Given the description of an element on the screen output the (x, y) to click on. 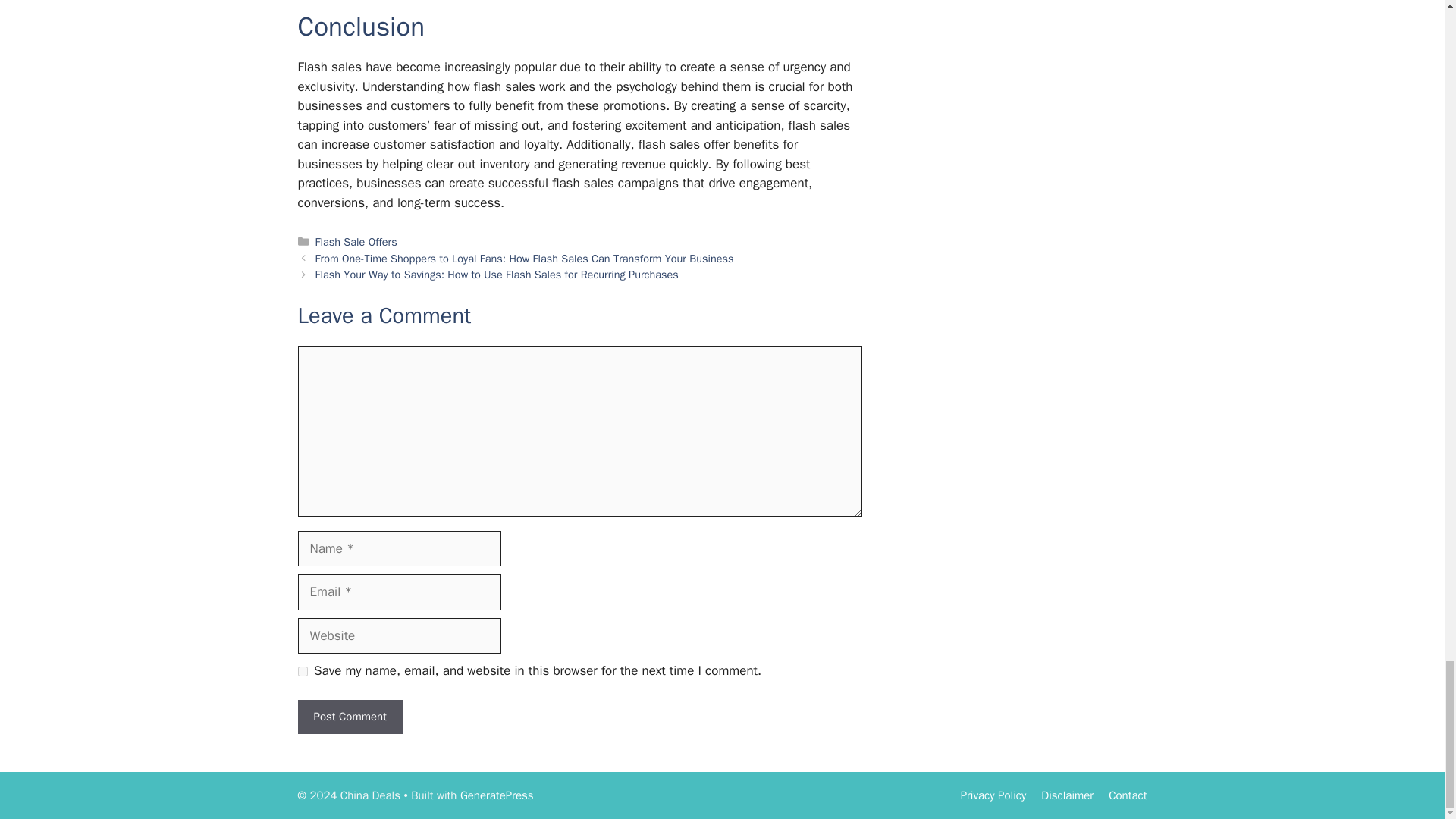
Post Comment (349, 716)
yes (302, 671)
GeneratePress (497, 795)
Privacy Policy (993, 795)
Contact (1127, 795)
Flash Sale Offers (356, 241)
Post Comment (349, 716)
Disclaimer (1067, 795)
